Given the description of an element on the screen output the (x, y) to click on. 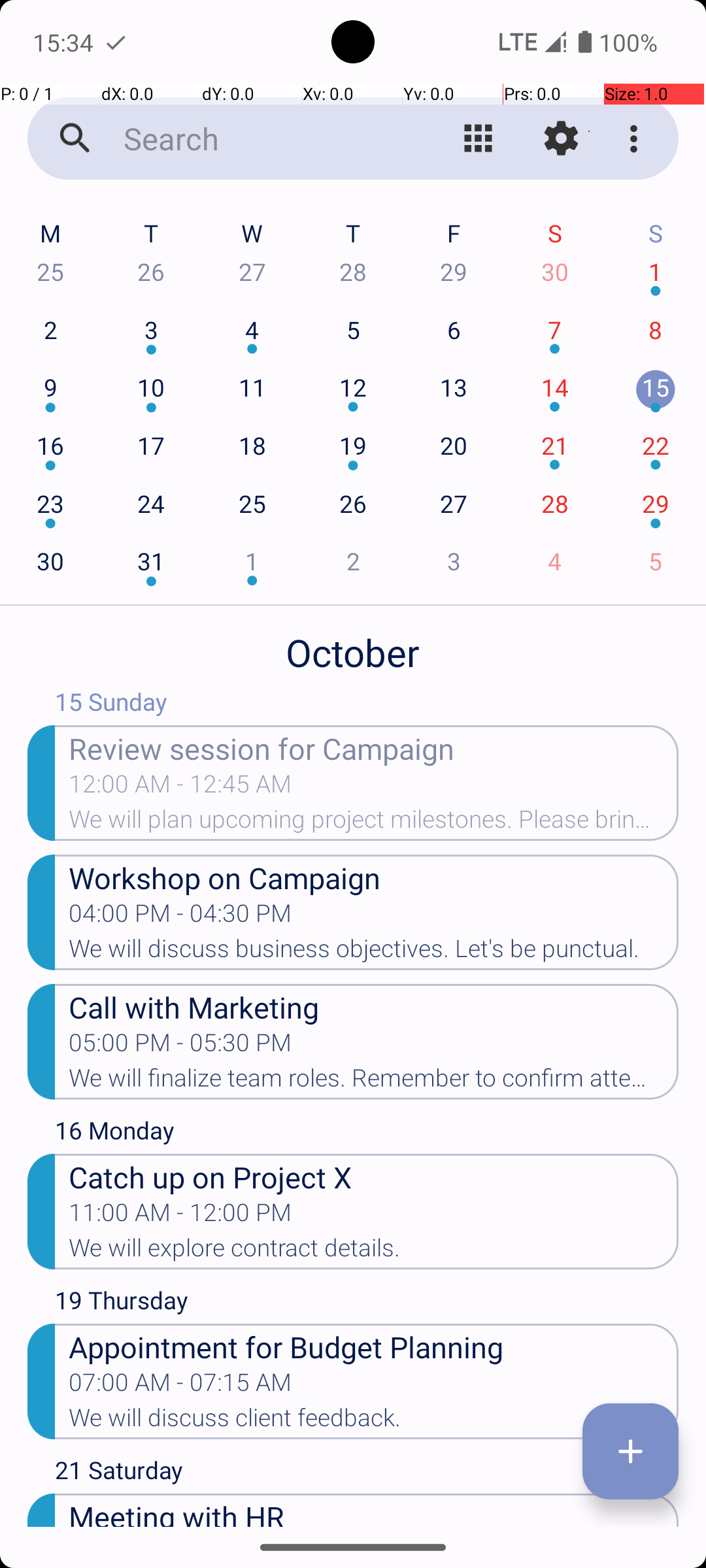
19 Thursday Element type: android.widget.TextView (366, 1303)
21 Saturday Element type: android.widget.TextView (366, 1473)
12:00 AM - 12:45 AM Element type: android.widget.TextView (179, 787)
We will plan upcoming project milestones. Please bring relevant documents. Element type: android.widget.TextView (373, 822)
04:00 PM - 04:30 PM Element type: android.widget.TextView (179, 916)
We will discuss business objectives. Let's be punctual. Element type: android.widget.TextView (373, 952)
Call with Marketing Element type: android.widget.TextView (373, 1006)
05:00 PM - 05:30 PM Element type: android.widget.TextView (179, 1046)
We will finalize team roles. Remember to confirm attendance. Element type: android.widget.TextView (373, 1081)
11:00 AM - 12:00 PM Element type: android.widget.TextView (179, 1216)
We will explore contract details. Element type: android.widget.TextView (373, 1251)
07:00 AM - 07:15 AM Element type: android.widget.TextView (179, 1386)
We will discuss client feedback. Element type: android.widget.TextView (373, 1421)
